Given the description of an element on the screen output the (x, y) to click on. 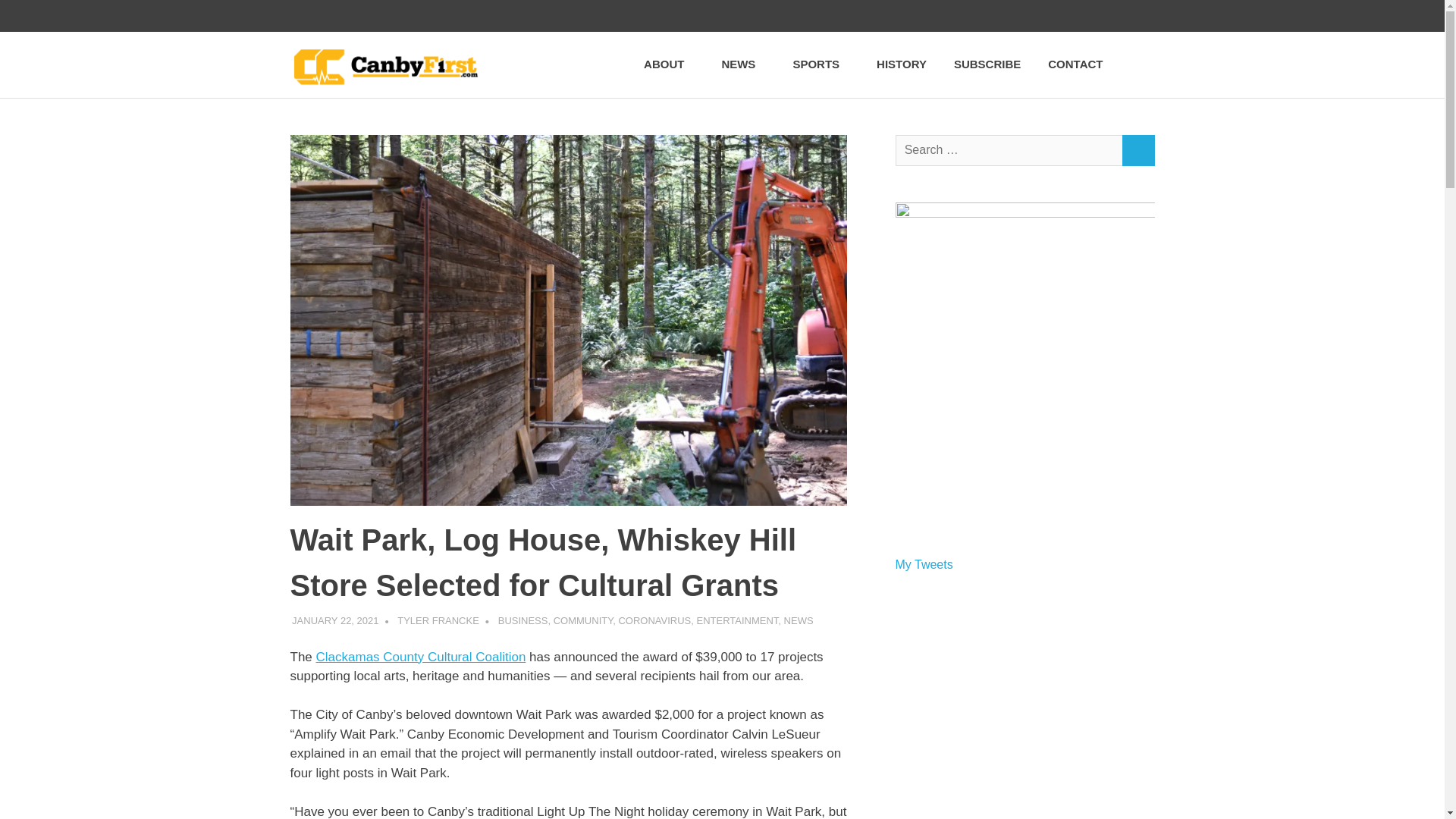
YouTube (1106, 15)
View all posts by Tyler Francke (438, 620)
SPORTS (820, 64)
Instagram (1042, 15)
Tumblr (1074, 15)
12:10 am (335, 620)
Facebook (978, 15)
ABOUT (668, 64)
Spotify (1138, 15)
Twitter (1010, 15)
